Given the description of an element on the screen output the (x, y) to click on. 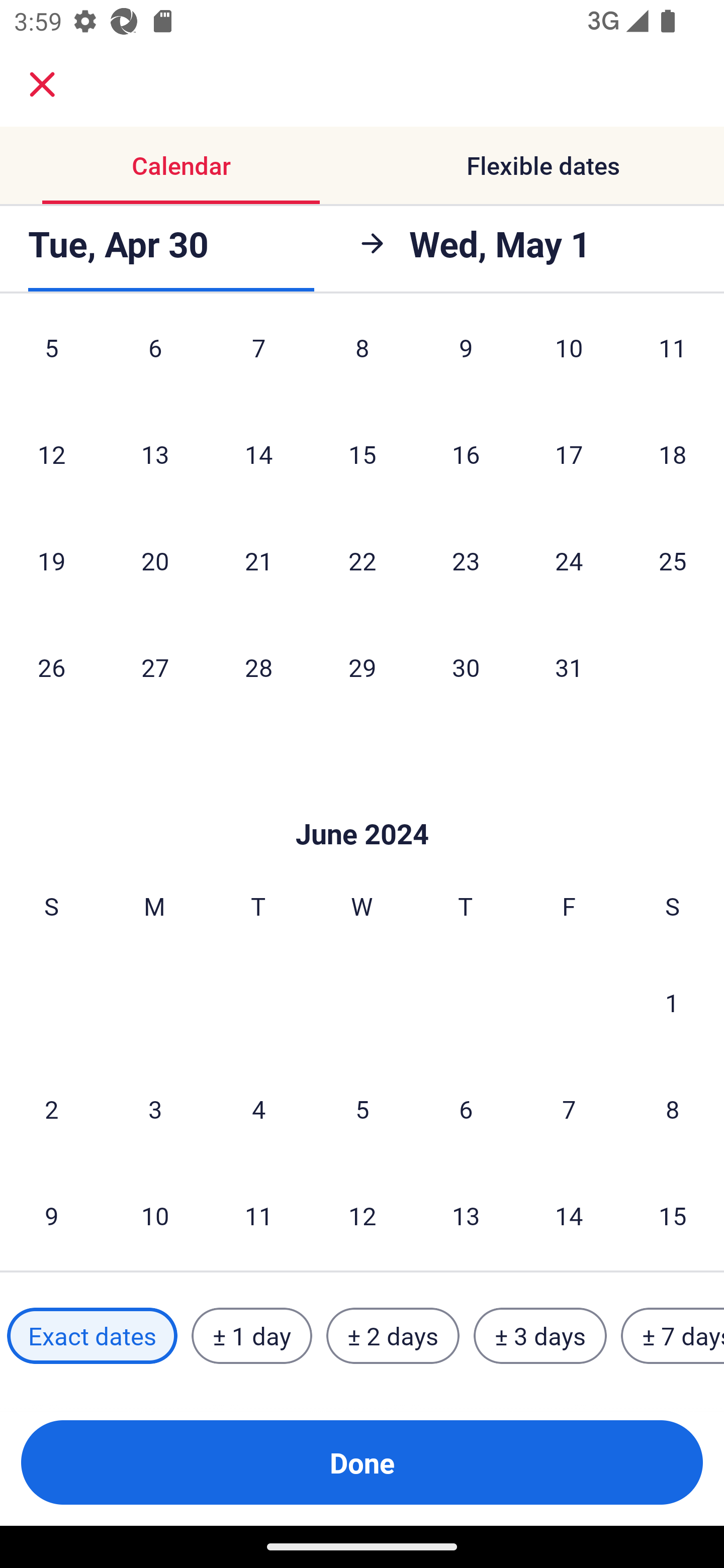
close. (42, 84)
Flexible dates (542, 164)
5 Sunday, May 5, 2024 (51, 359)
6 Monday, May 6, 2024 (155, 359)
7 Tuesday, May 7, 2024 (258, 359)
8 Wednesday, May 8, 2024 (362, 359)
9 Thursday, May 9, 2024 (465, 359)
10 Friday, May 10, 2024 (569, 359)
11 Saturday, May 11, 2024 (672, 359)
12 Sunday, May 12, 2024 (51, 453)
13 Monday, May 13, 2024 (155, 453)
14 Tuesday, May 14, 2024 (258, 453)
15 Wednesday, May 15, 2024 (362, 453)
16 Thursday, May 16, 2024 (465, 453)
17 Friday, May 17, 2024 (569, 453)
18 Saturday, May 18, 2024 (672, 453)
19 Sunday, May 19, 2024 (51, 560)
20 Monday, May 20, 2024 (155, 560)
21 Tuesday, May 21, 2024 (258, 560)
22 Wednesday, May 22, 2024 (362, 560)
23 Thursday, May 23, 2024 (465, 560)
24 Friday, May 24, 2024 (569, 560)
25 Saturday, May 25, 2024 (672, 560)
26 Sunday, May 26, 2024 (51, 667)
27 Monday, May 27, 2024 (155, 667)
28 Tuesday, May 28, 2024 (258, 667)
29 Wednesday, May 29, 2024 (362, 667)
30 Thursday, May 30, 2024 (465, 667)
31 Friday, May 31, 2024 (569, 667)
Skip to Done (362, 804)
1 Saturday, June 1, 2024 (672, 1001)
2 Sunday, June 2, 2024 (51, 1108)
3 Monday, June 3, 2024 (155, 1108)
4 Tuesday, June 4, 2024 (258, 1108)
5 Wednesday, June 5, 2024 (362, 1108)
6 Thursday, June 6, 2024 (465, 1108)
7 Friday, June 7, 2024 (569, 1108)
8 Saturday, June 8, 2024 (672, 1108)
9 Sunday, June 9, 2024 (51, 1214)
10 Monday, June 10, 2024 (155, 1214)
11 Tuesday, June 11, 2024 (258, 1214)
12 Wednesday, June 12, 2024 (362, 1214)
13 Thursday, June 13, 2024 (465, 1214)
14 Friday, June 14, 2024 (569, 1214)
15 Saturday, June 15, 2024 (672, 1214)
Exact dates (92, 1335)
± 1 day (251, 1335)
± 2 days (392, 1335)
± 3 days (539, 1335)
± 7 days (672, 1335)
Done (361, 1462)
